Given the description of an element on the screen output the (x, y) to click on. 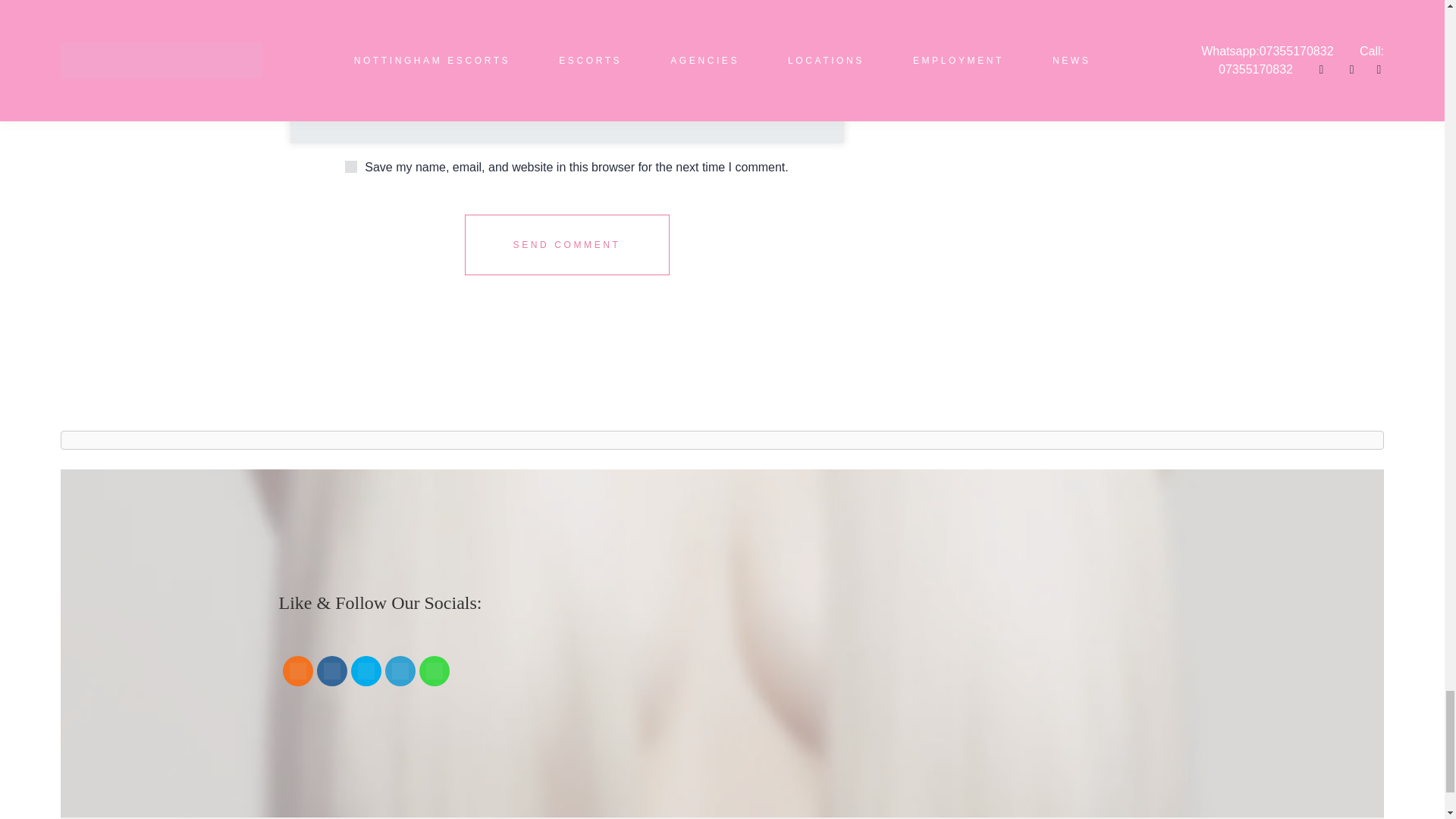
RSS (297, 670)
Telegram (399, 670)
Twitter (366, 670)
WhatsApp (434, 670)
Facebook (331, 670)
